Given the description of an element on the screen output the (x, y) to click on. 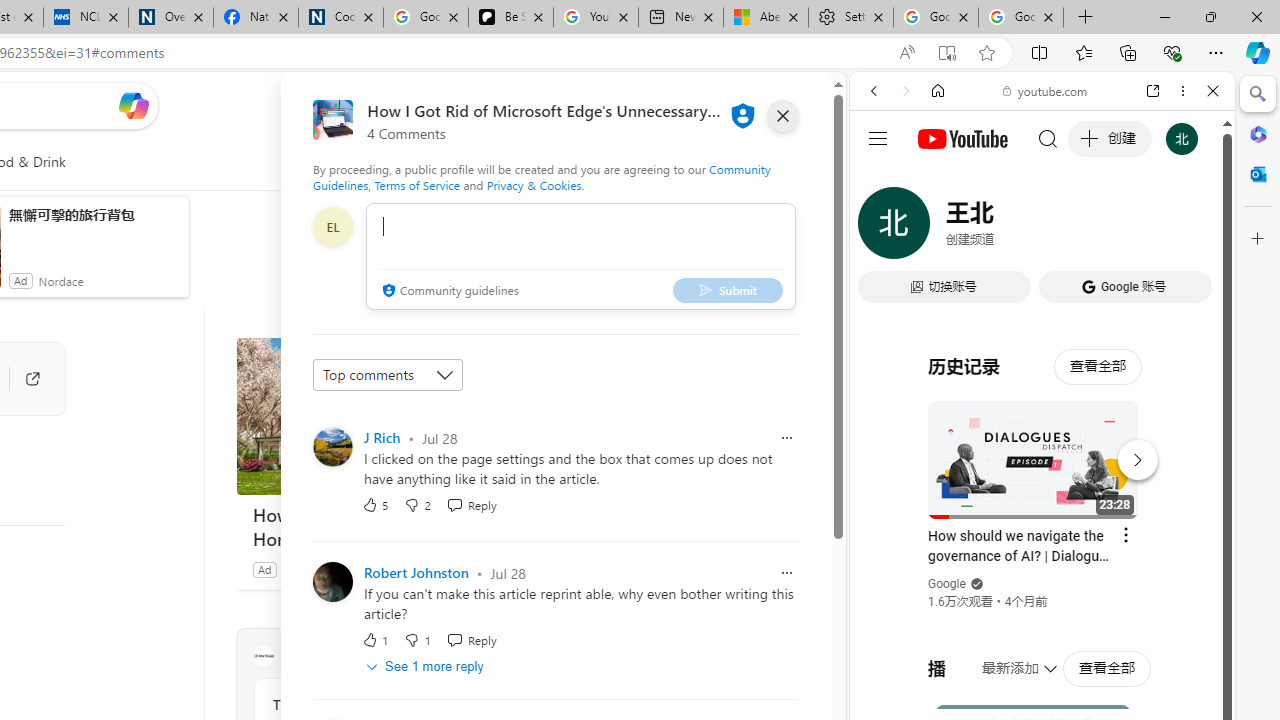
Add this page to favorites (Ctrl+D) (986, 53)
Trailer #2 [HD] (1042, 594)
Class: b_serphb (1190, 229)
Settings and more (Alt+F) (1215, 52)
IMAGES (939, 228)
Read aloud this page (Ctrl+Shift+U) (906, 53)
Reply Reply Comment (471, 639)
J Rich (381, 437)
Show More Music (1164, 546)
Music (1042, 543)
Search Filter, VIDEOS (1006, 228)
Community guidelines (448, 291)
Aberdeen, Hong Kong SAR hourly forecast | Microsoft Weather (765, 17)
